Given the description of an element on the screen output the (x, y) to click on. 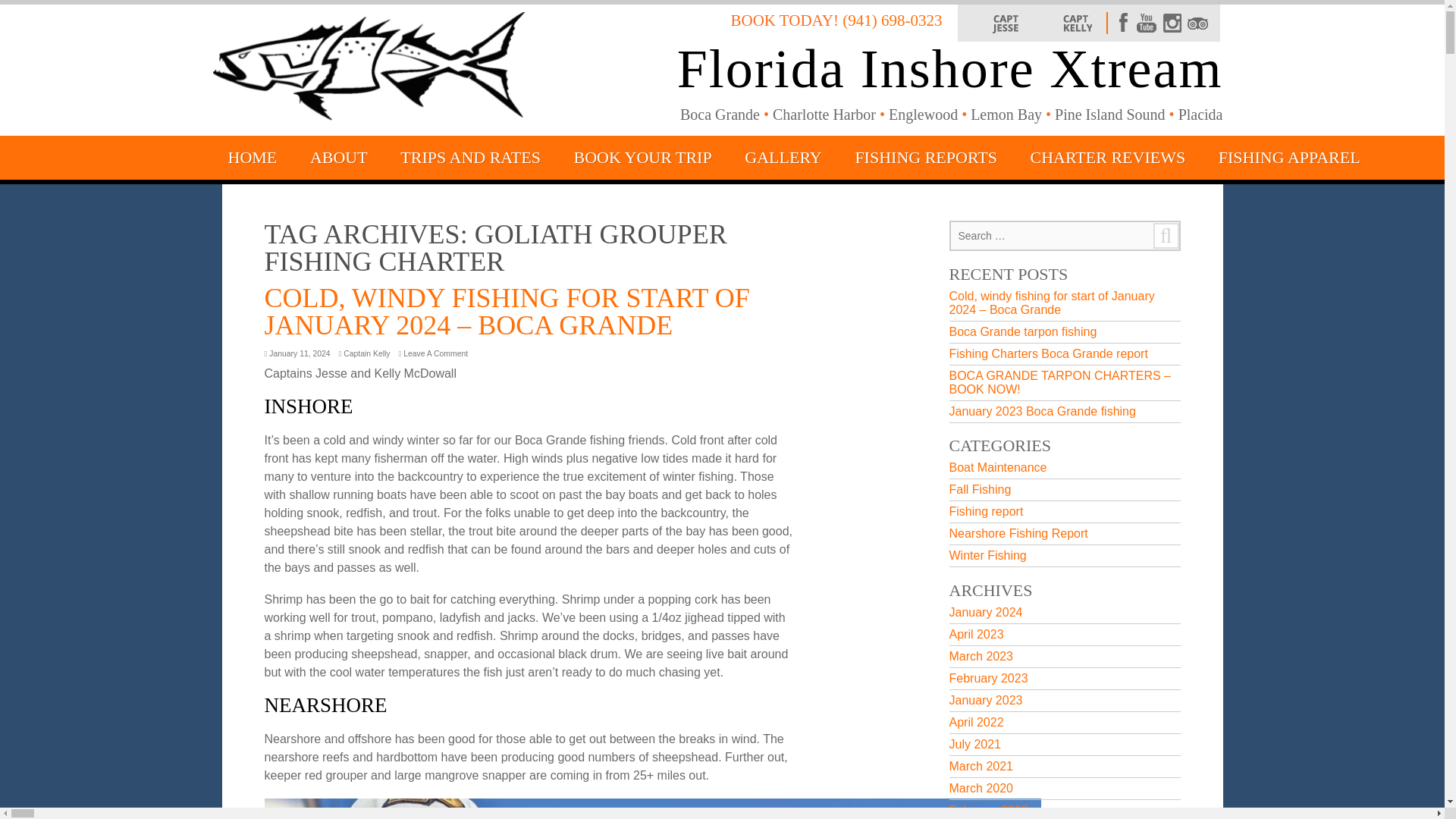
Learn more about Florida Inshore Xtream Fishing Charters! (339, 156)
ABOUT (339, 156)
HOME (251, 156)
YouTube (1145, 23)
Search (1165, 235)
Return Home (251, 156)
TripAdvisor (1197, 23)
FISHING REPORTS (925, 156)
Return Home (368, 69)
BOOK YOUR TRIP (642, 156)
Facebook (1119, 23)
Read the latest Fishing Reports from Captain Kelly (1076, 23)
Instagram (1171, 23)
TripAdvisor (1197, 23)
See Florida Inshore Xtream Charters Trips and Rates! (470, 156)
